Given the description of an element on the screen output the (x, y) to click on. 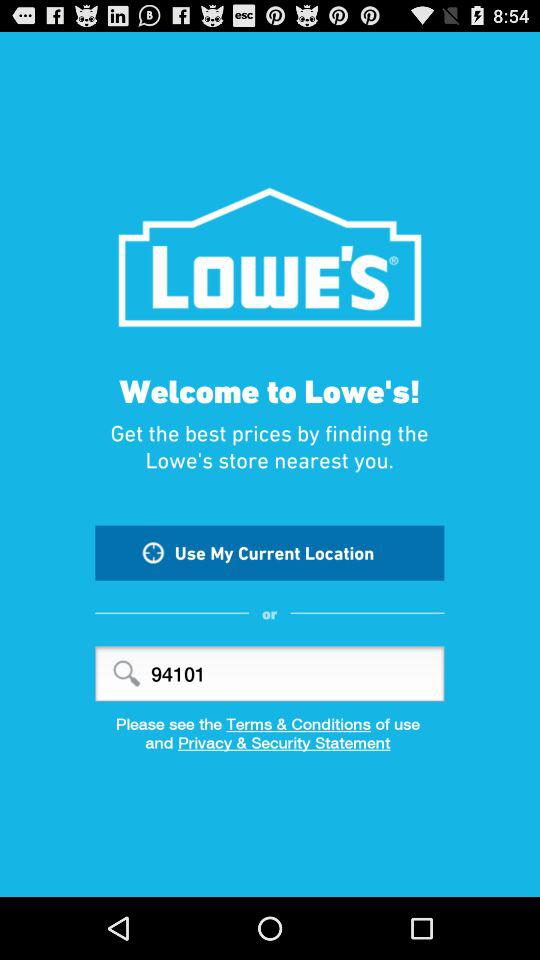
press item below get the best icon (269, 552)
